Given the description of an element on the screen output the (x, y) to click on. 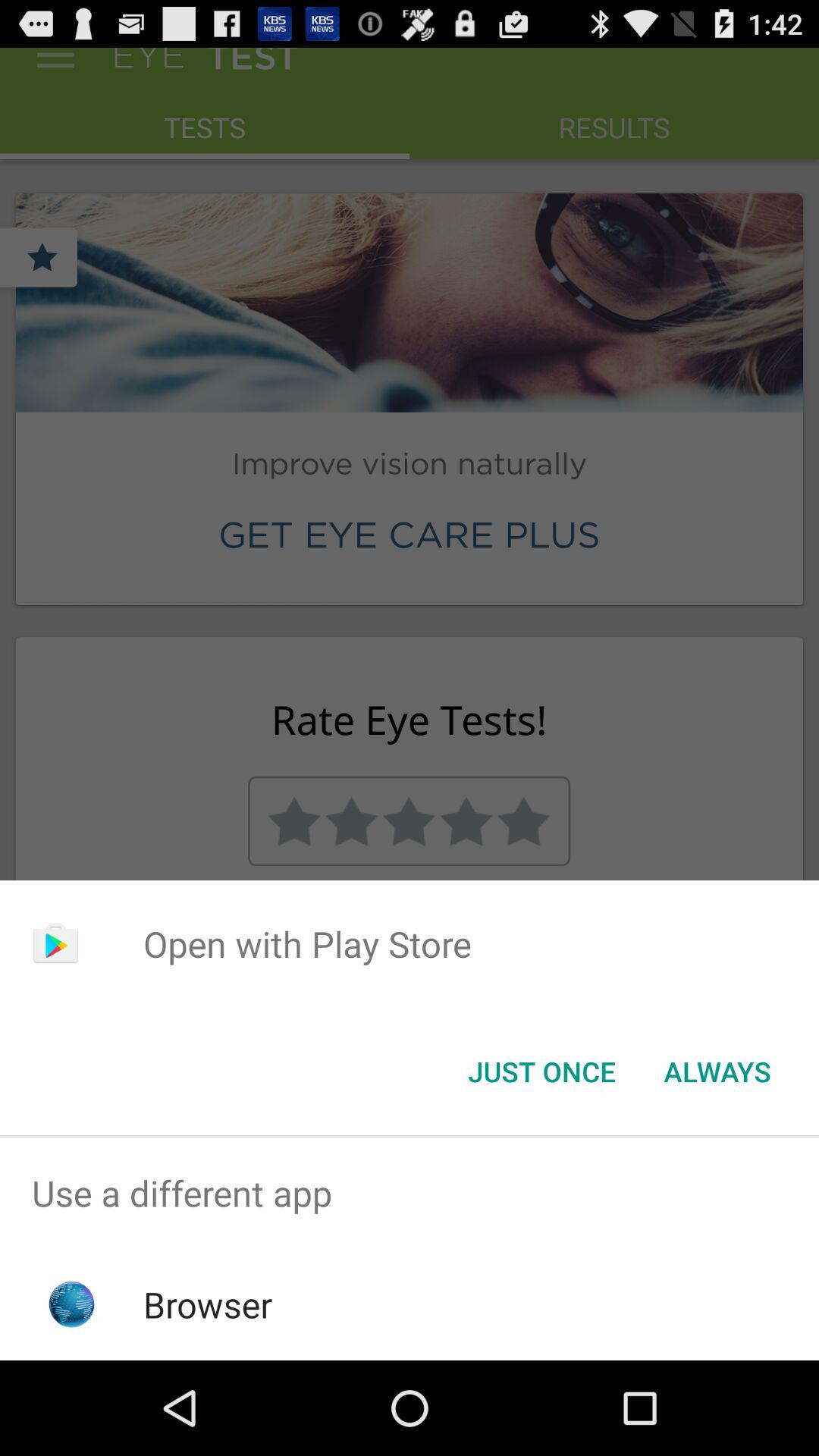
select icon below open with play app (541, 1071)
